Given the description of an element on the screen output the (x, y) to click on. 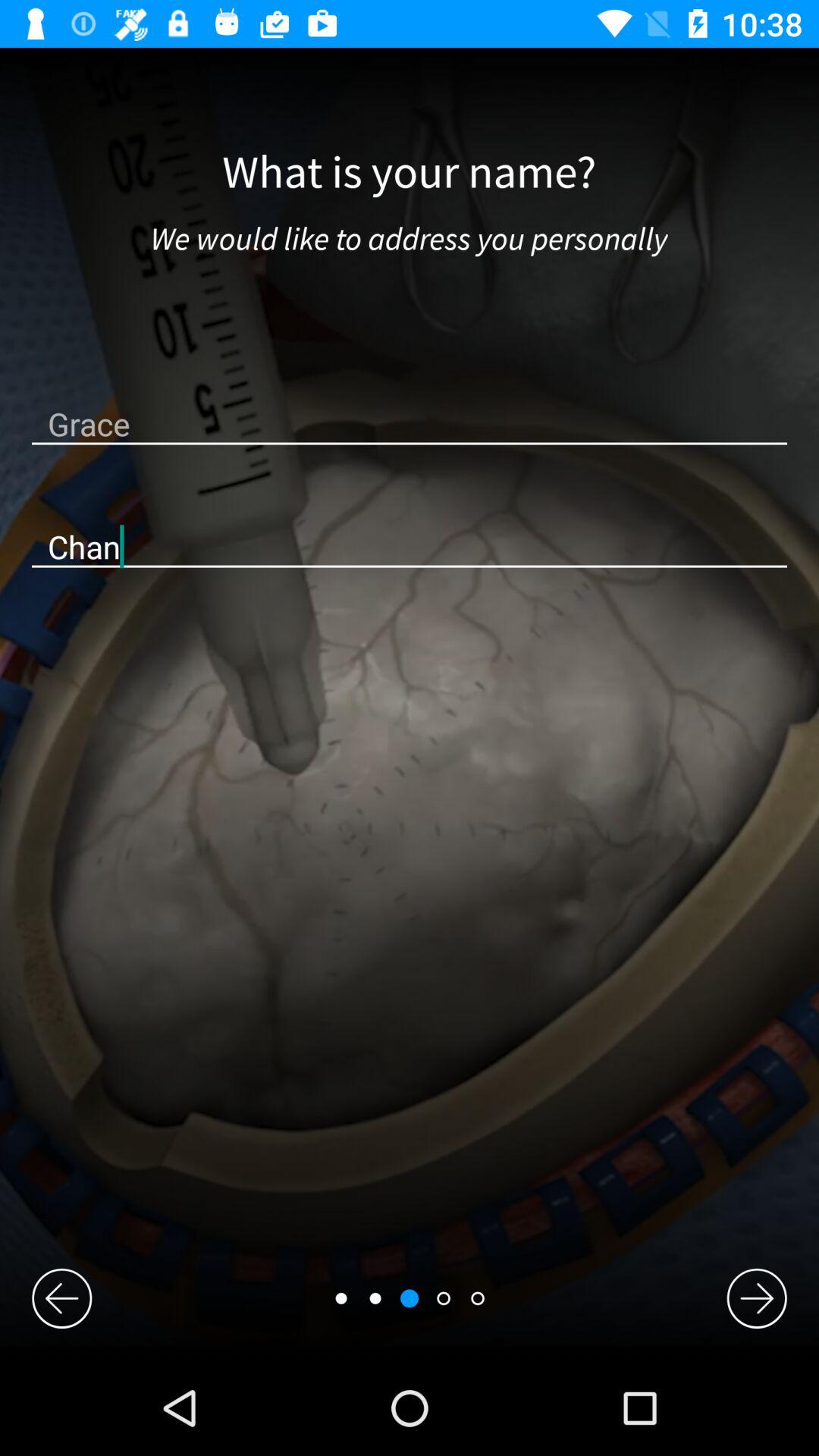
select chan (409, 546)
